Given the description of an element on the screen output the (x, y) to click on. 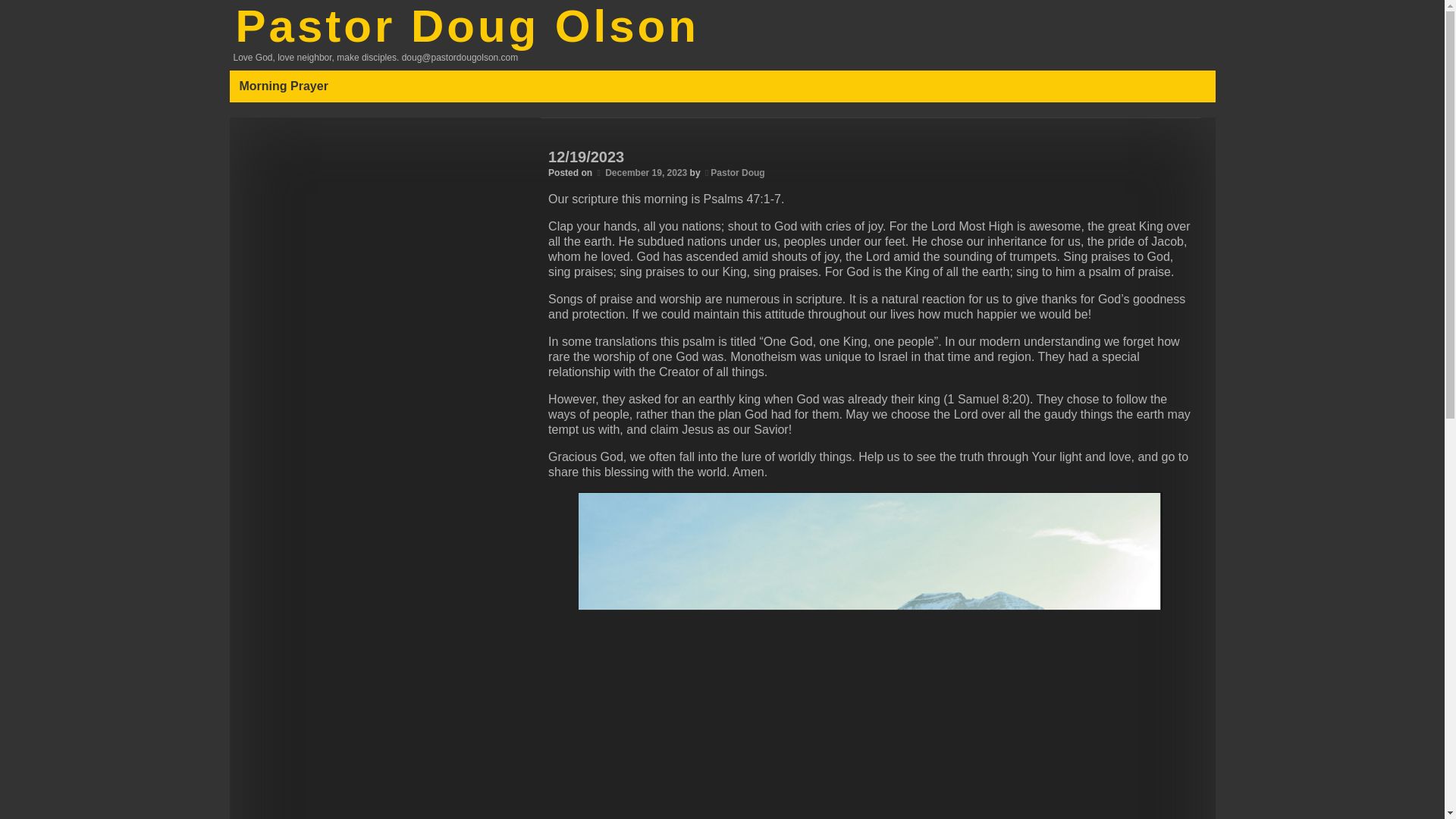
Pastor Doug Olson (466, 25)
Morning Prayer (286, 86)
Pastor Doug (737, 172)
December 19, 2023 (646, 172)
